Given the description of an element on the screen output the (x, y) to click on. 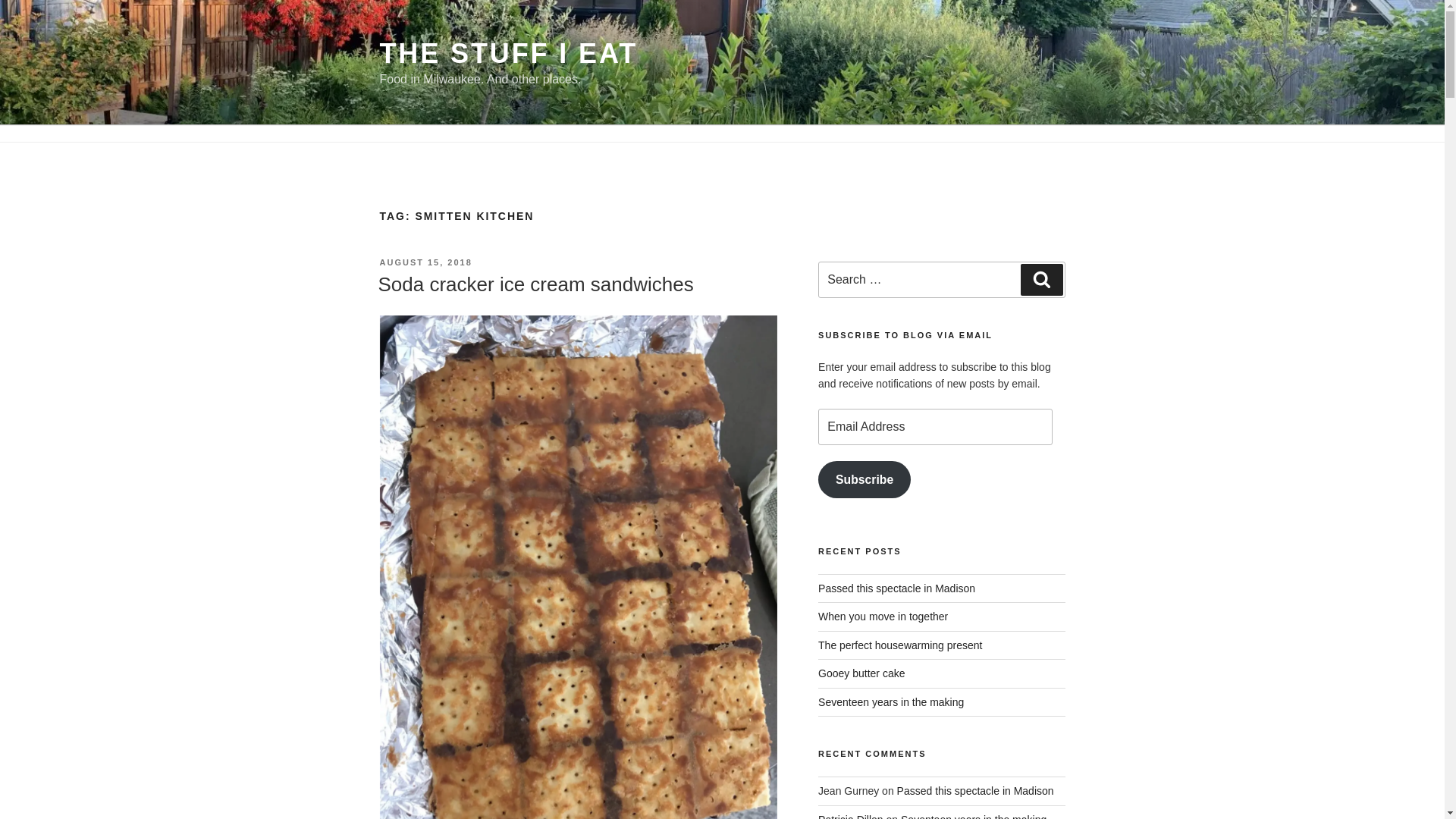
THE STUFF I EAT (507, 52)
When you move in together (882, 616)
Patricia Dillon (850, 816)
Passed this spectacle in Madison (975, 790)
Passed this spectacle in Madison (896, 588)
Seventeen years in the making (890, 702)
Soda cracker ice cream sandwiches (535, 283)
Search (1041, 279)
Subscribe (864, 479)
The perfect housewarming present (899, 645)
